Given the description of an element on the screen output the (x, y) to click on. 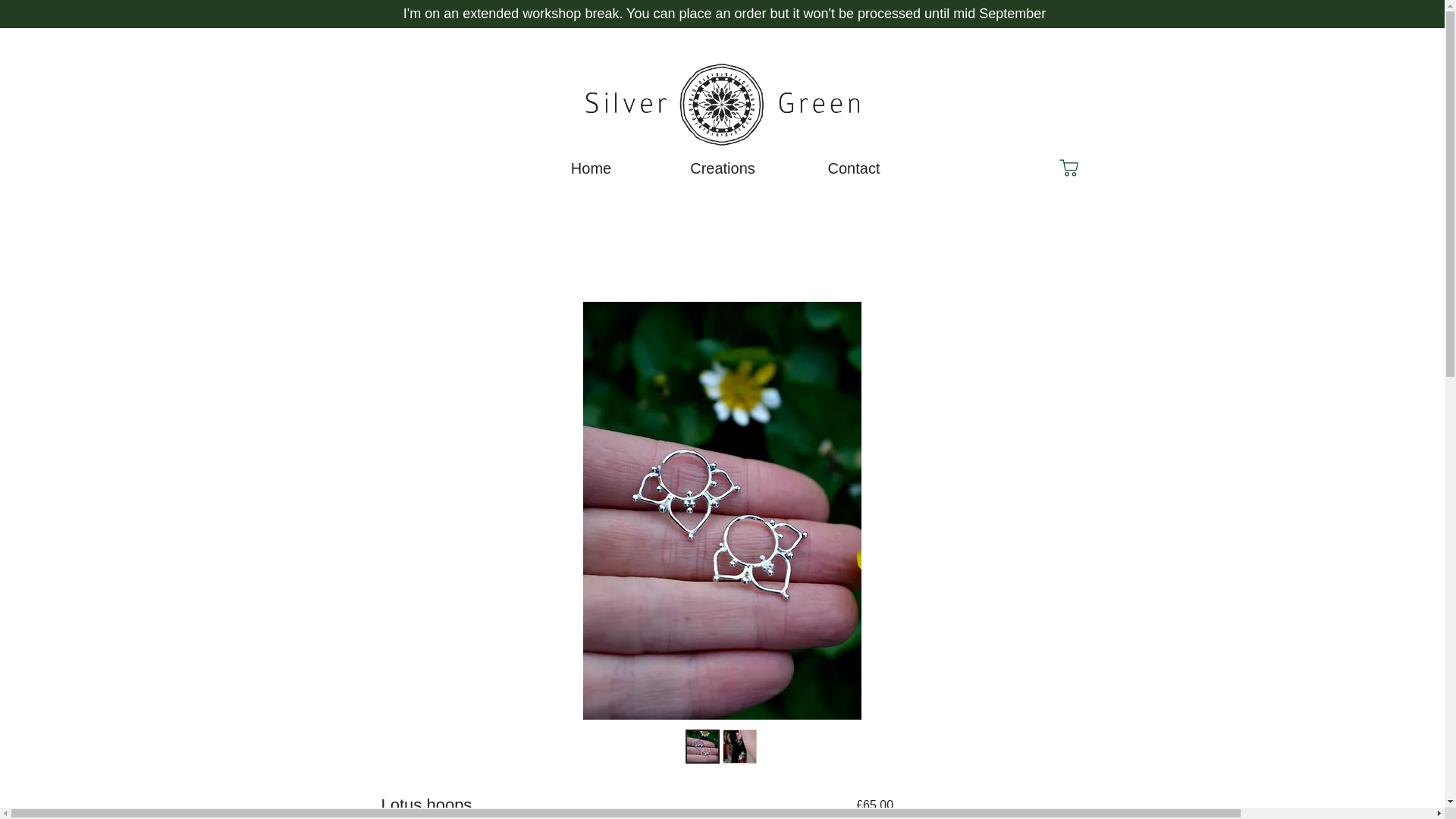
Contact (854, 167)
Creations (721, 167)
Home (590, 167)
